Given the description of an element on the screen output the (x, y) to click on. 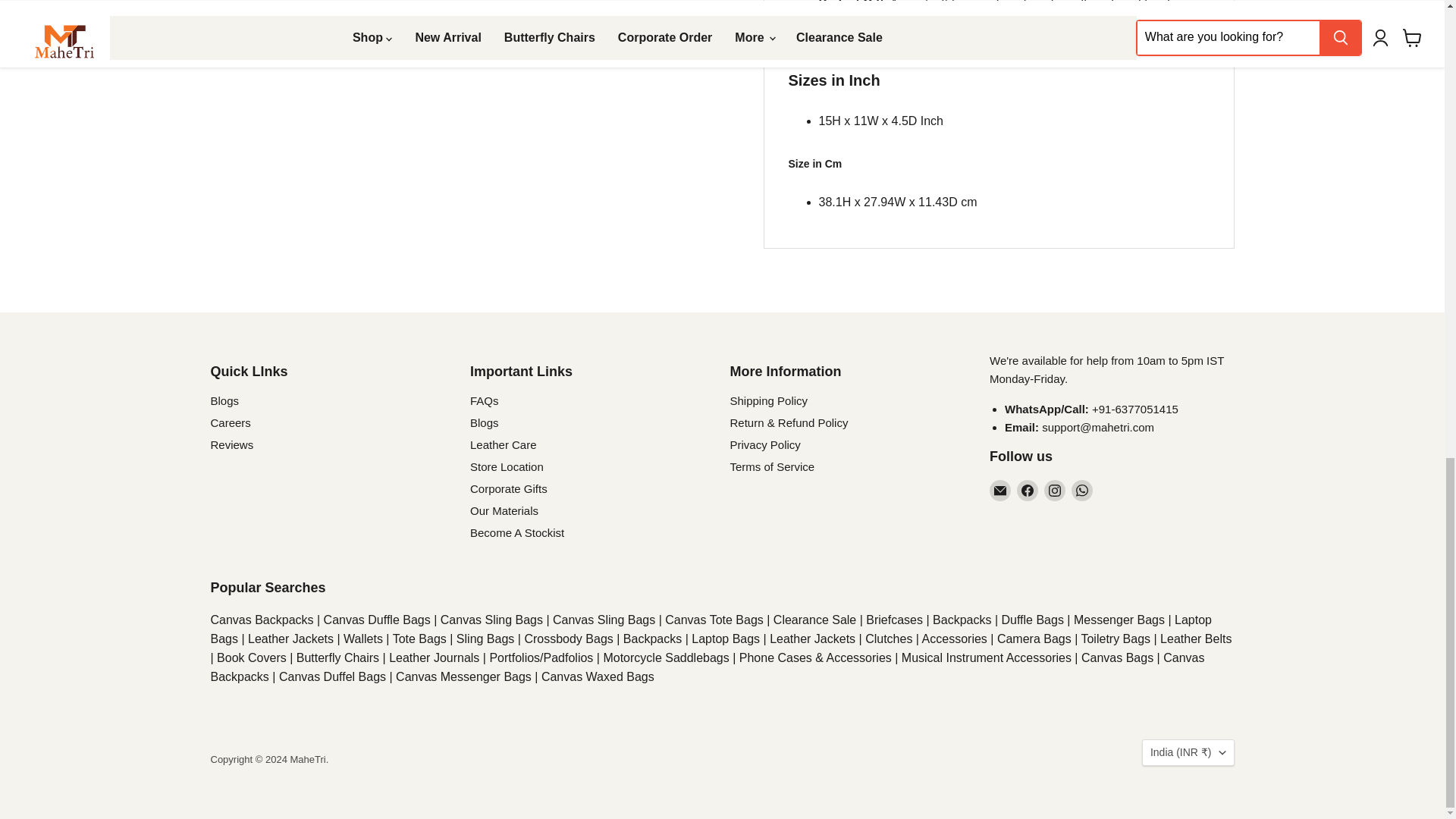
Facebook (1027, 490)
Canvas Duffle Bags (1031, 619)
Canvas Backpacks (262, 619)
WhatsApp (1082, 490)
Leather Jackets (290, 638)
Canvas Sling Bags (492, 619)
Canvas Duffle Bags (376, 619)
Leather Messenger Bags (1119, 619)
Leather Briefcases (894, 619)
Leather Tote Bags (419, 638)
